Given the description of an element on the screen output the (x, y) to click on. 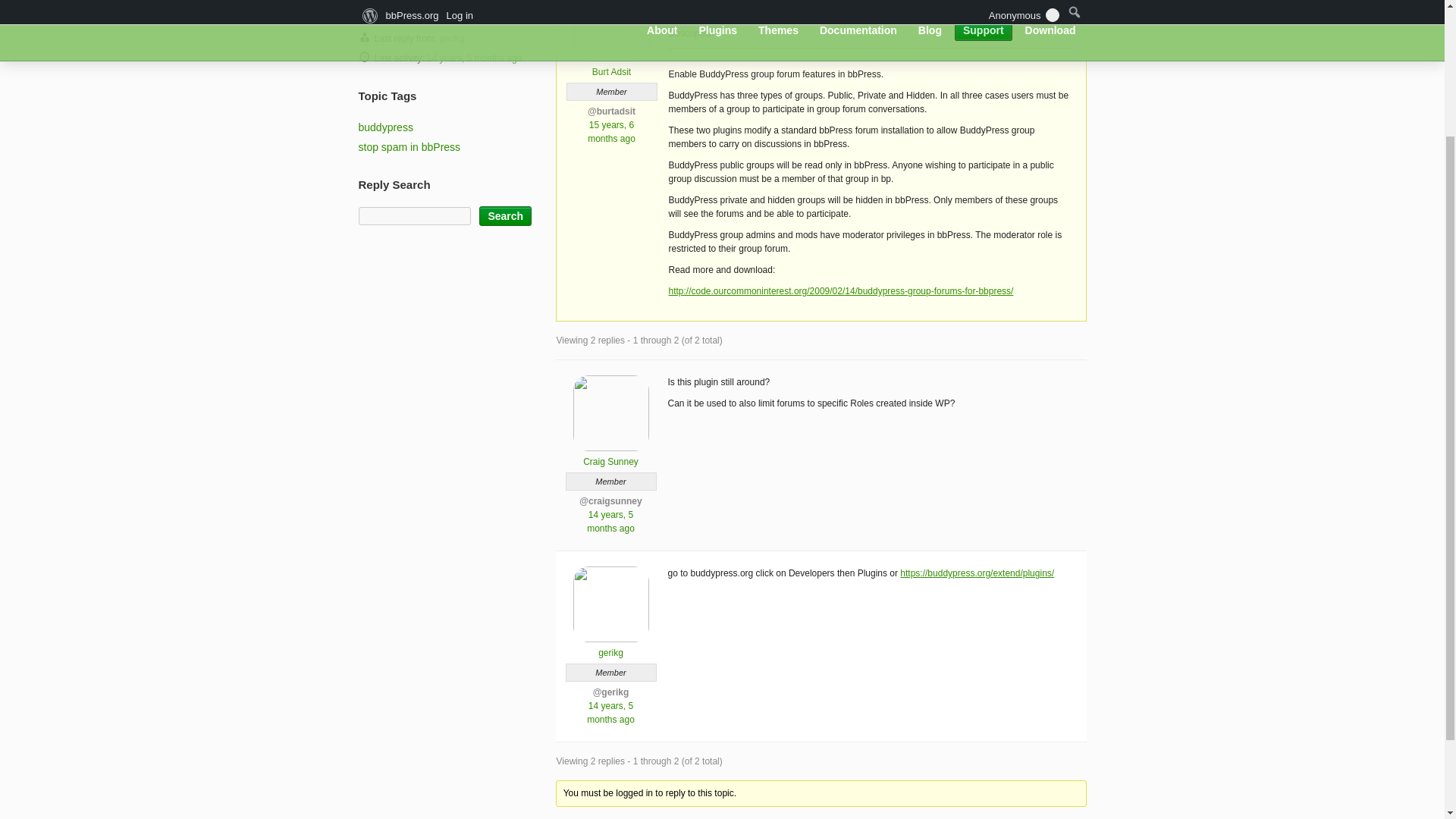
14 years, 5 months ago (473, 58)
gerikg (451, 38)
Burt Adsit (611, 65)
14 years, 5 months ago (610, 712)
Search (505, 216)
14 years, 5 months ago (610, 521)
Search (505, 216)
stop spam in bbPress (409, 146)
gerikg (609, 646)
Craig Sunney (609, 455)
